Given the description of an element on the screen output the (x, y) to click on. 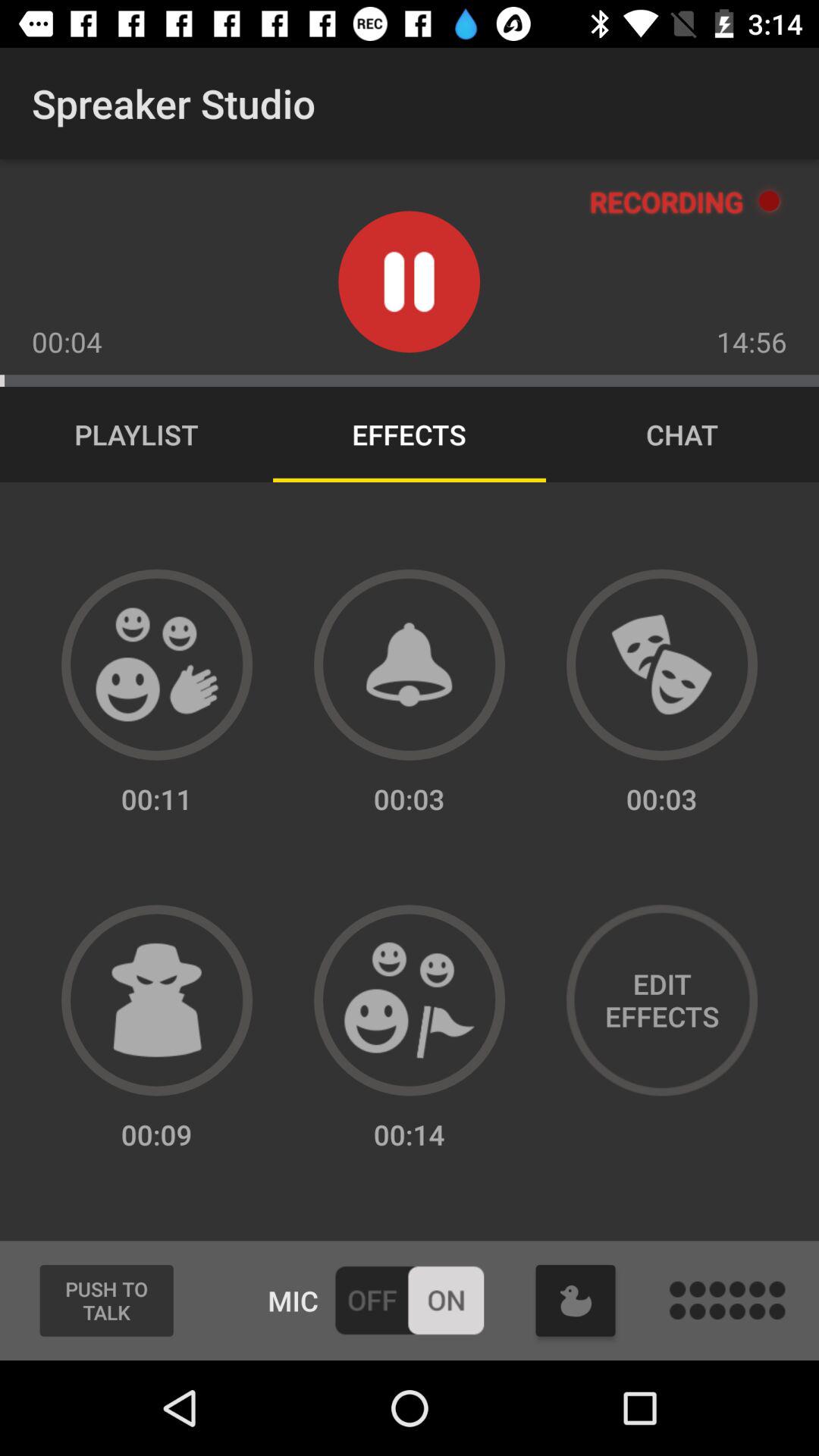
microphone on and off (409, 1300)
